Given the description of an element on the screen output the (x, y) to click on. 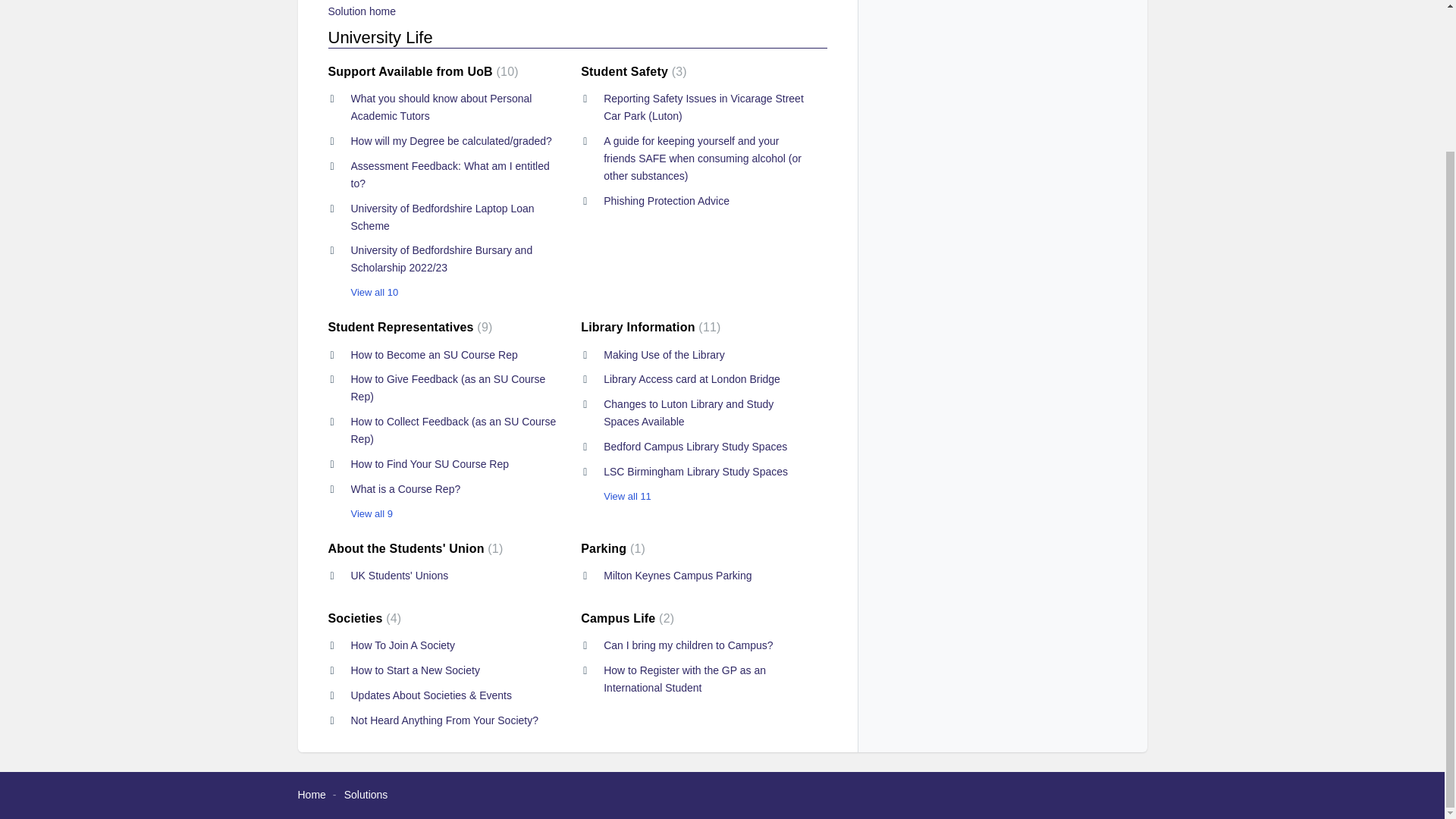
View all 10 (362, 292)
Solution home (361, 10)
Library Information (650, 327)
About the Students' Union (414, 548)
About the Students' Union 1 (414, 548)
What you should know about Personal Academic Tutors (440, 107)
Parking (612, 548)
Support Available from UoB 10 (422, 71)
Assessment Feedback: What am I entitled to? (449, 174)
Campus Life (627, 617)
Bedford Campus Library Study Spaces (695, 446)
What is a Course Rep? (405, 489)
Student Representatives (409, 327)
Student Safety (633, 71)
Changes to Luton Library and Study Spaces Available (688, 412)
